Given the description of an element on the screen output the (x, y) to click on. 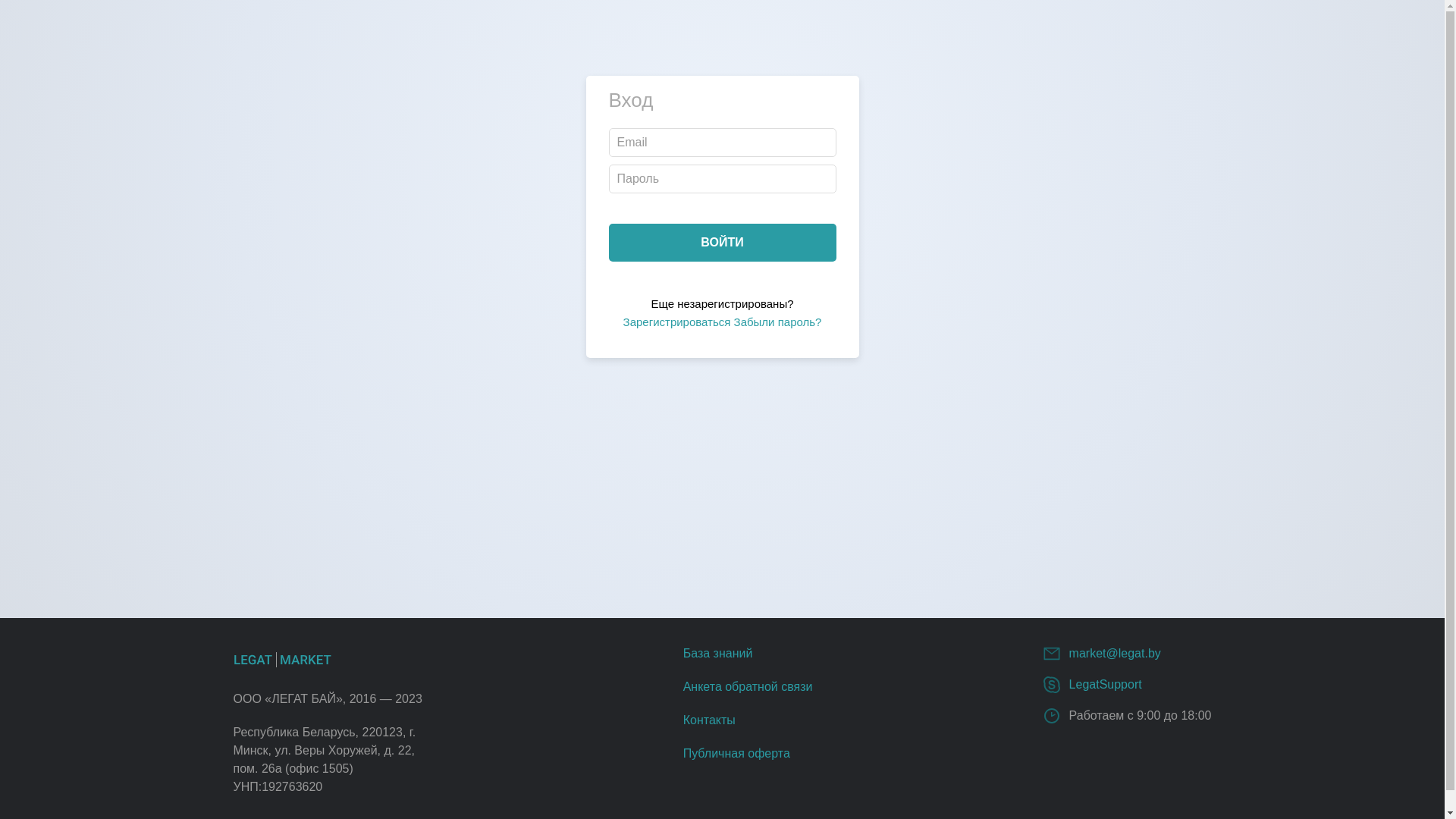
LegatSupport Element type: text (1105, 683)
market@legat.by Element type: text (1115, 652)
